Given the description of an element on the screen output the (x, y) to click on. 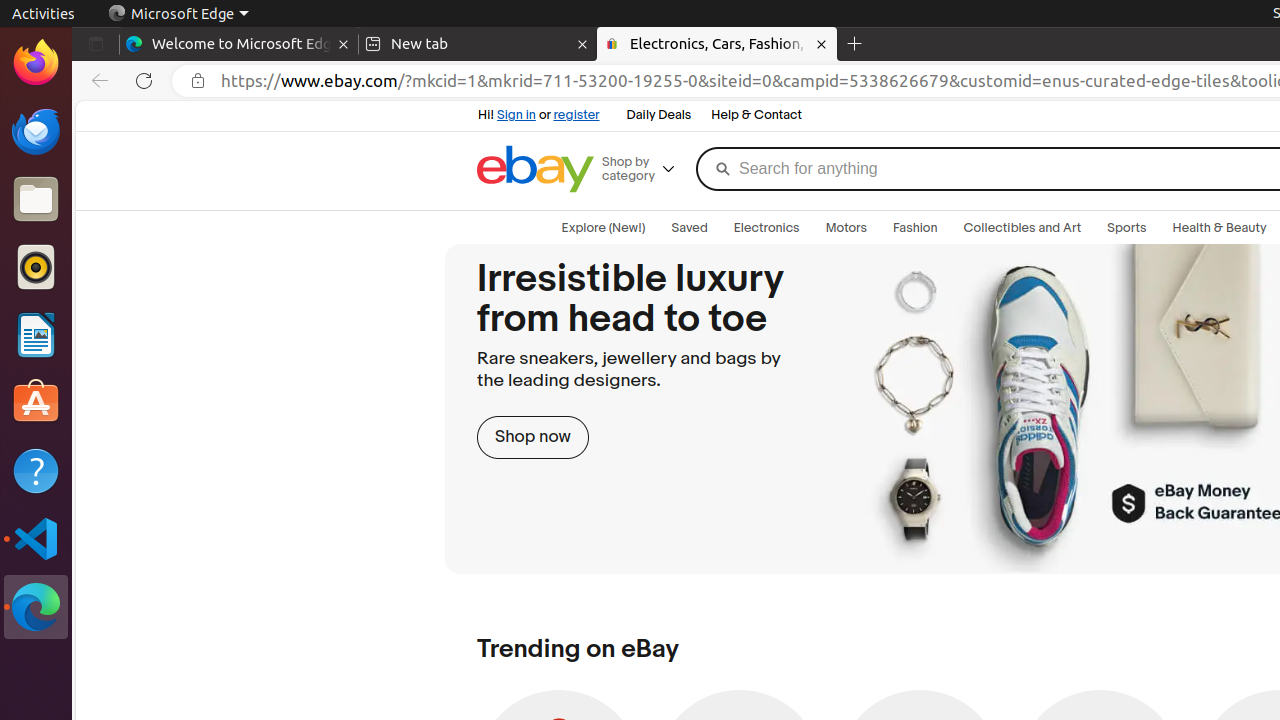
Daily Deals Element type: link (659, 115)
eBay Home Element type: link (535, 169)
Thunderbird Mail Element type: push-button (36, 131)
Rhythmbox Element type: push-button (36, 267)
Shop by category Element type: push-button (646, 169)
